Given the description of an element on the screen output the (x, y) to click on. 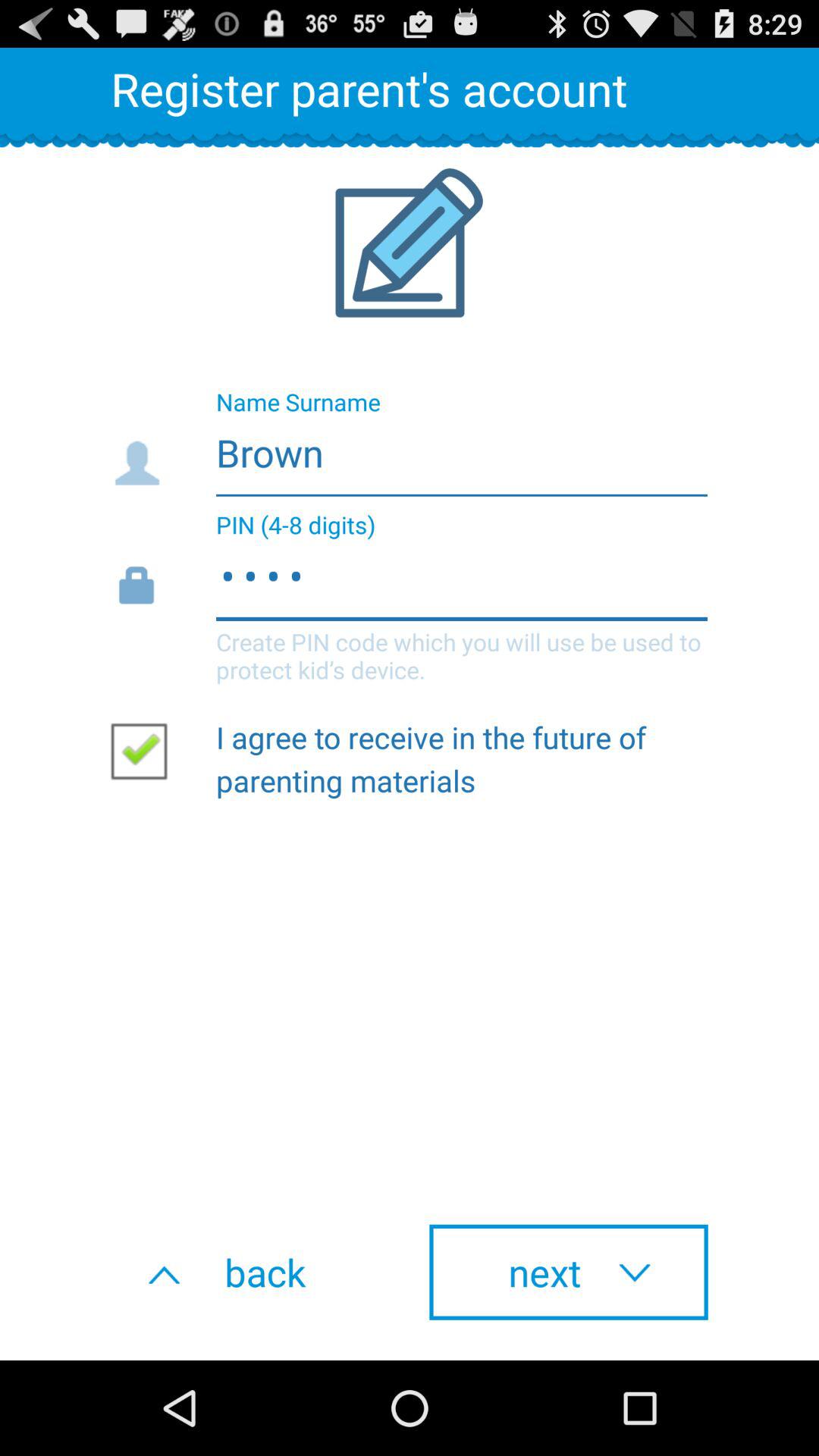
launch next at the bottom right corner (568, 1272)
